Given the description of an element on the screen output the (x, y) to click on. 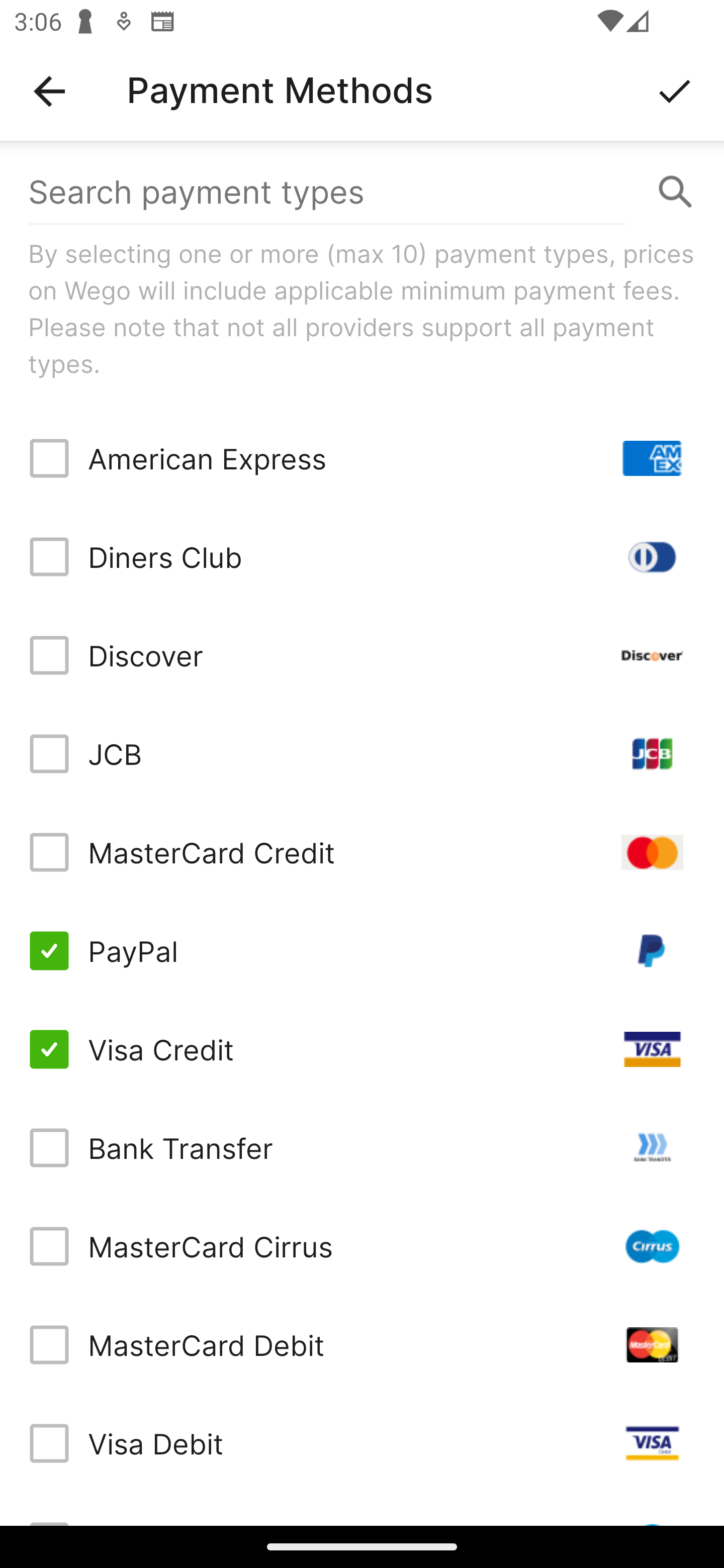
Search payment types  (361, 191)
American Express (362, 458)
Diners Club (362, 557)
Discover (362, 655)
JCB (362, 753)
MasterCard Credit (362, 851)
PayPal (362, 950)
Visa Credit (362, 1049)
Bank Transfer (362, 1147)
MasterCard Cirrus (362, 1245)
MasterCard Debit (362, 1344)
Visa Debit (362, 1442)
